Given the description of an element on the screen output the (x, y) to click on. 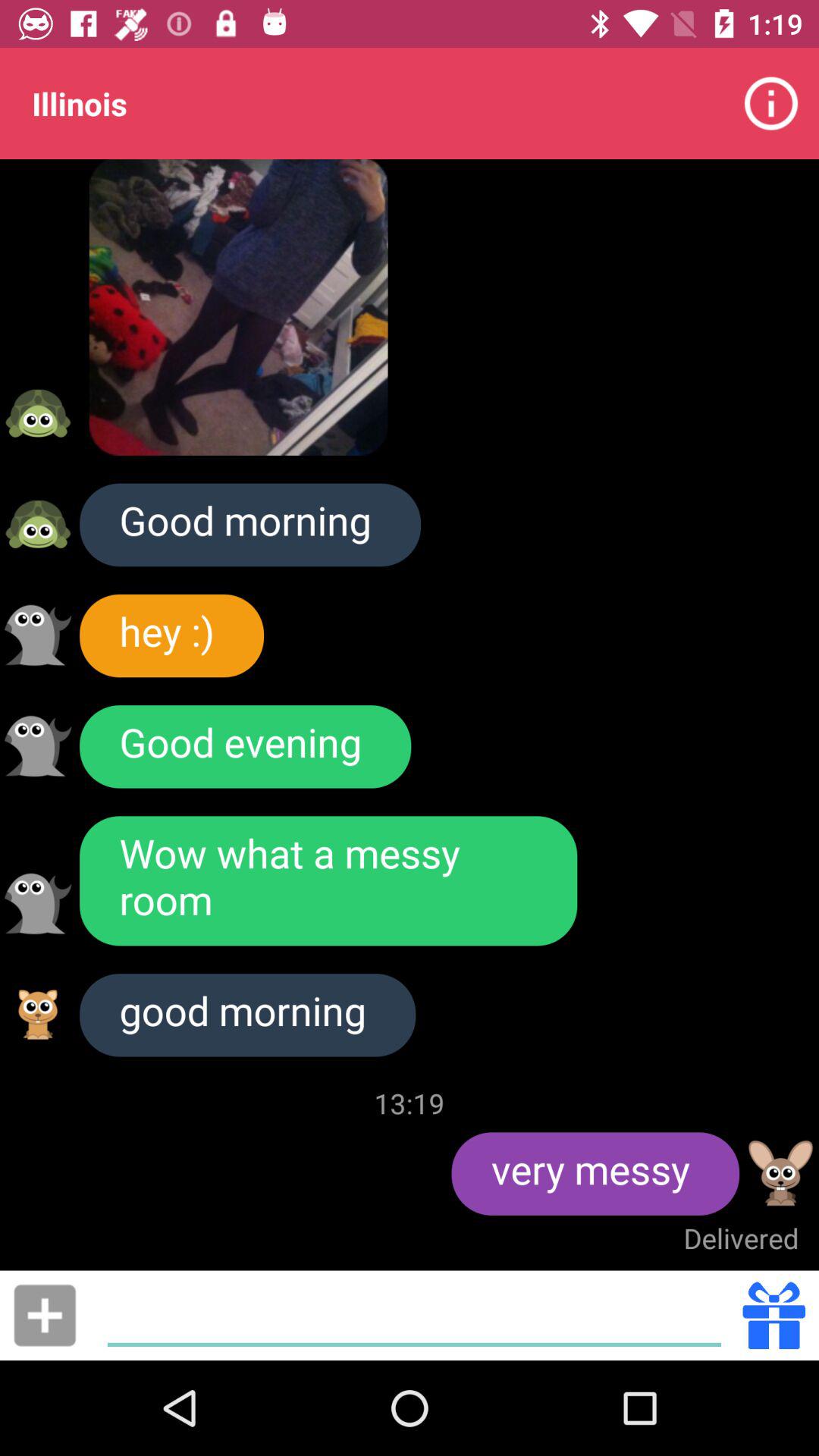
click the icon above the very messy  icon (409, 1103)
